Given the description of an element on the screen output the (x, y) to click on. 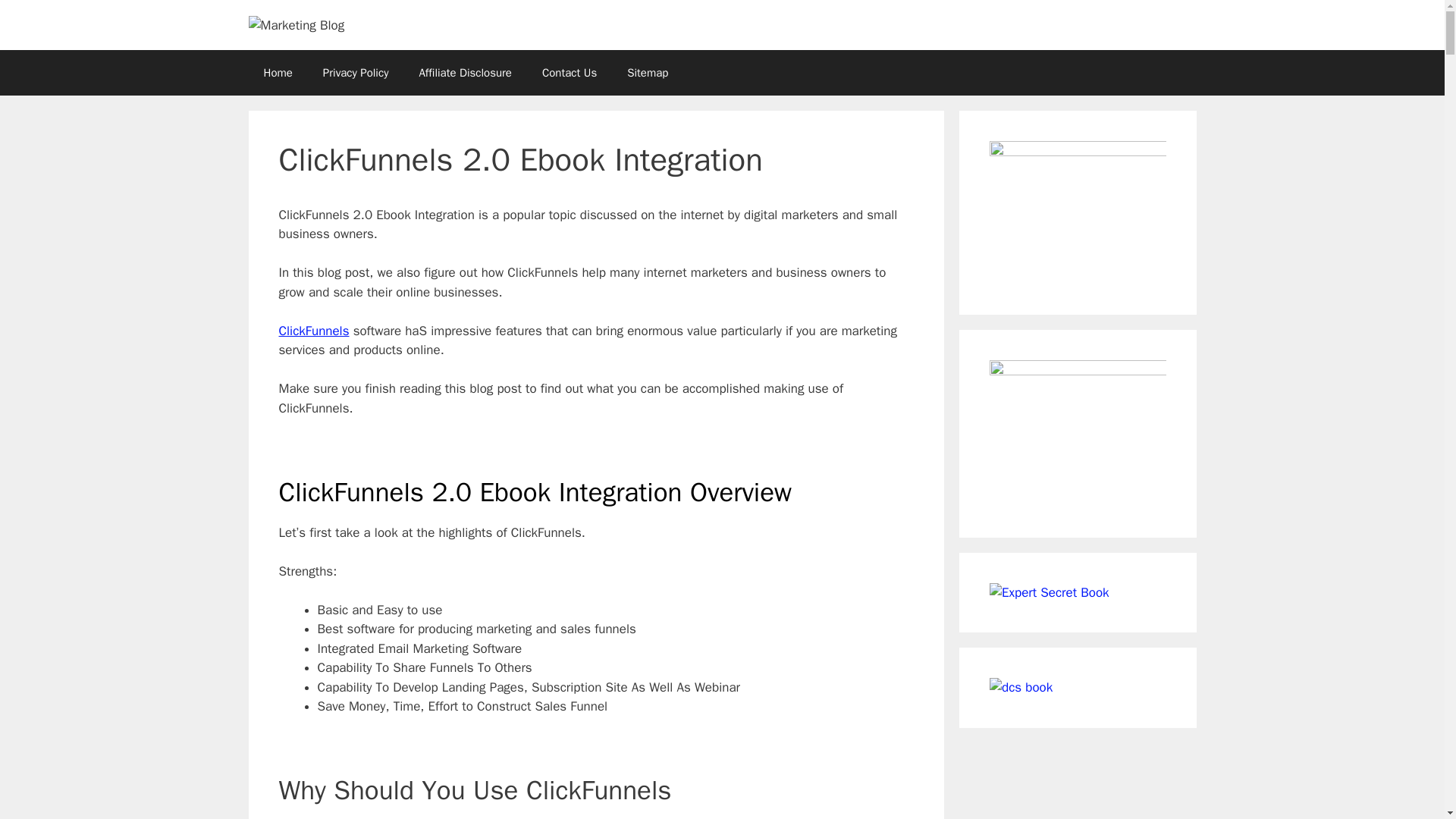
Affiliate Disclosure (465, 72)
Contact Us (569, 72)
Sitemap (646, 72)
Home (277, 72)
ClickFunnels (314, 330)
Privacy Policy (355, 72)
